Given the description of an element on the screen output the (x, y) to click on. 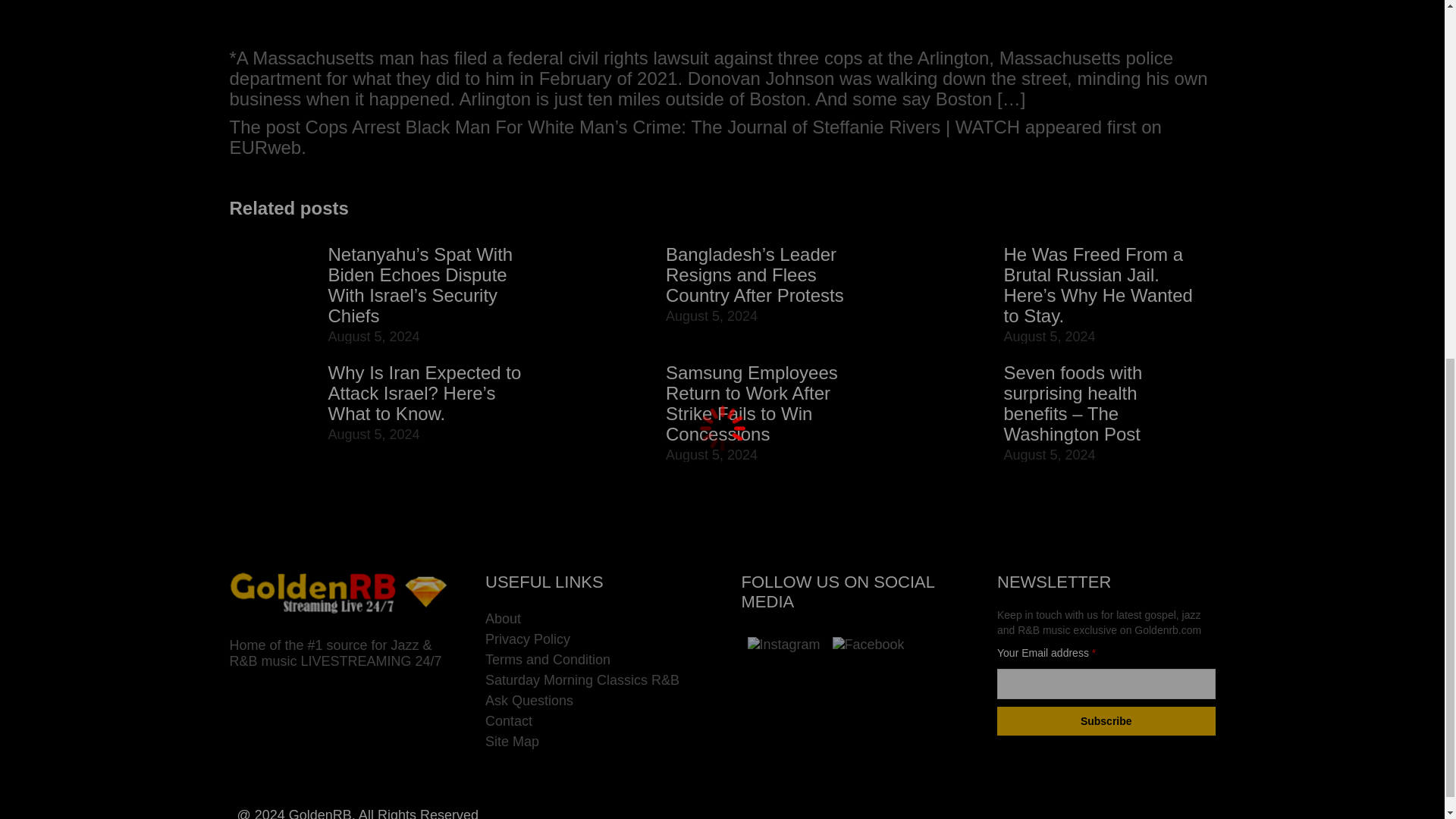
Subscribe (1106, 720)
Instagram (784, 644)
Facebook (869, 644)
Facebook (868, 644)
Instagram (784, 644)
